Given the description of an element on the screen output the (x, y) to click on. 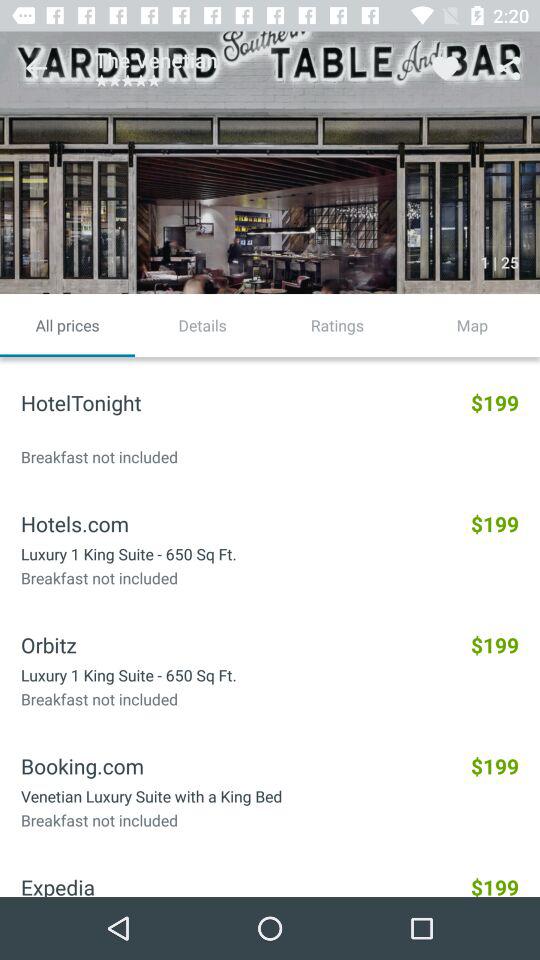
open the icon next to the the venetian item (36, 68)
